Given the description of an element on the screen output the (x, y) to click on. 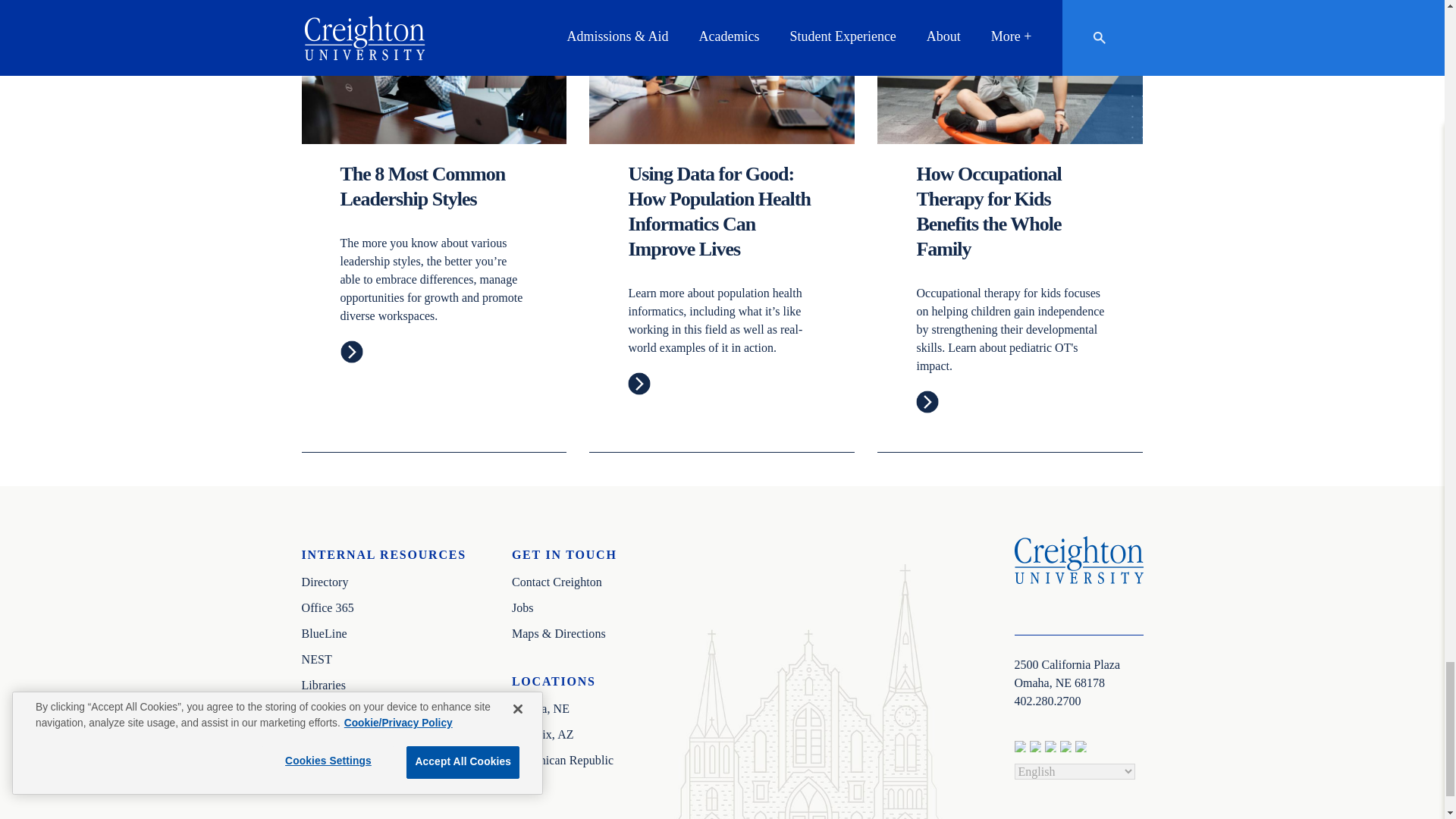
German (1052, 749)
English (1021, 749)
French (1037, 749)
Italian (1067, 749)
Spanish (1082, 749)
